Given the description of an element on the screen output the (x, y) to click on. 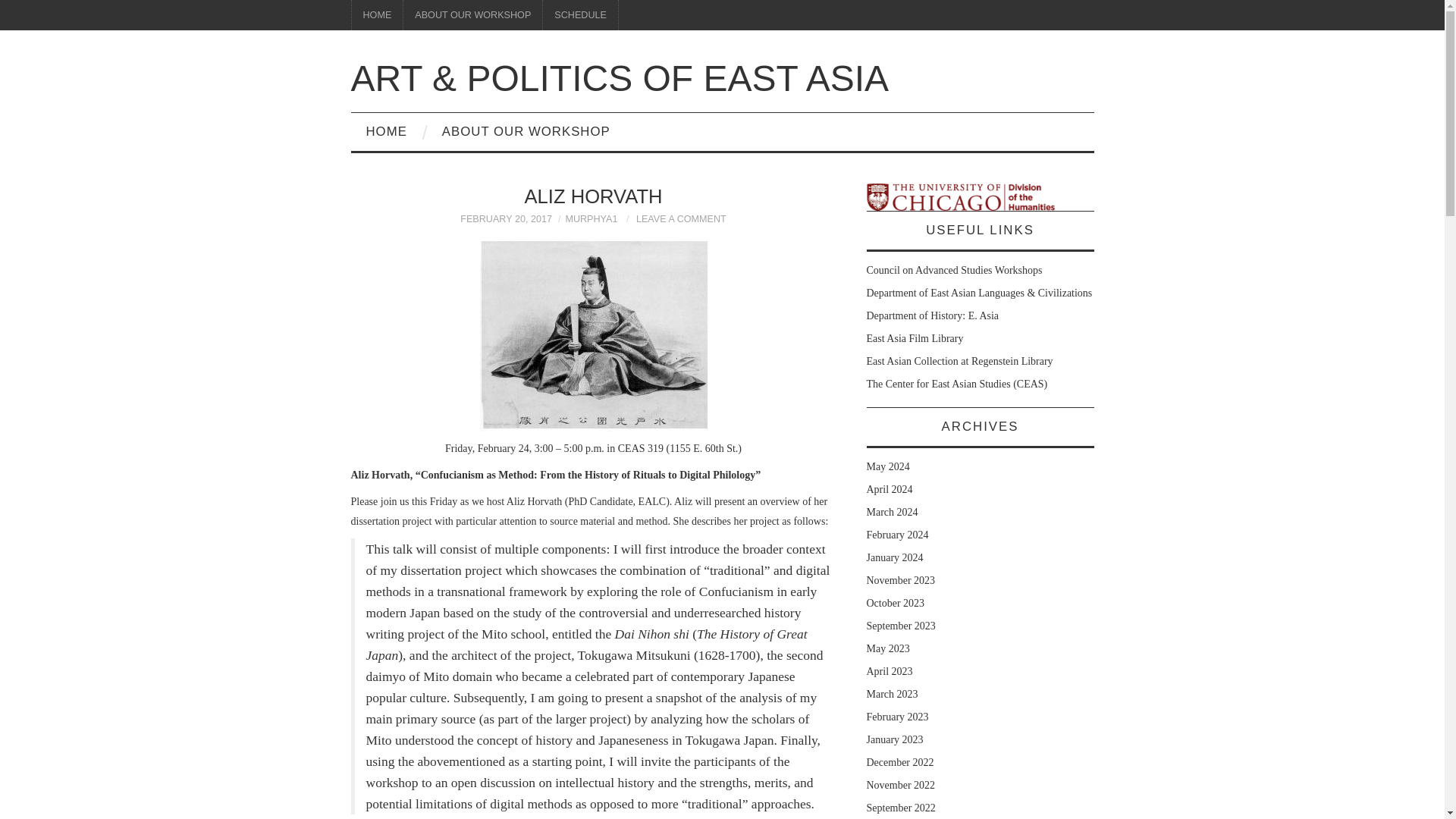
February 2024 (897, 534)
Council on Advanced Studies Workshops (954, 270)
MURPHYA1 (590, 218)
ABOUT OUR WORKSHOP (526, 131)
LEAVE A COMMENT (681, 218)
April 2023 (889, 671)
March 2023 (891, 694)
ABOUT OUR WORKSHOP (472, 15)
HOME (386, 131)
FEBRUARY 20, 2017 (505, 218)
